Given the description of an element on the screen output the (x, y) to click on. 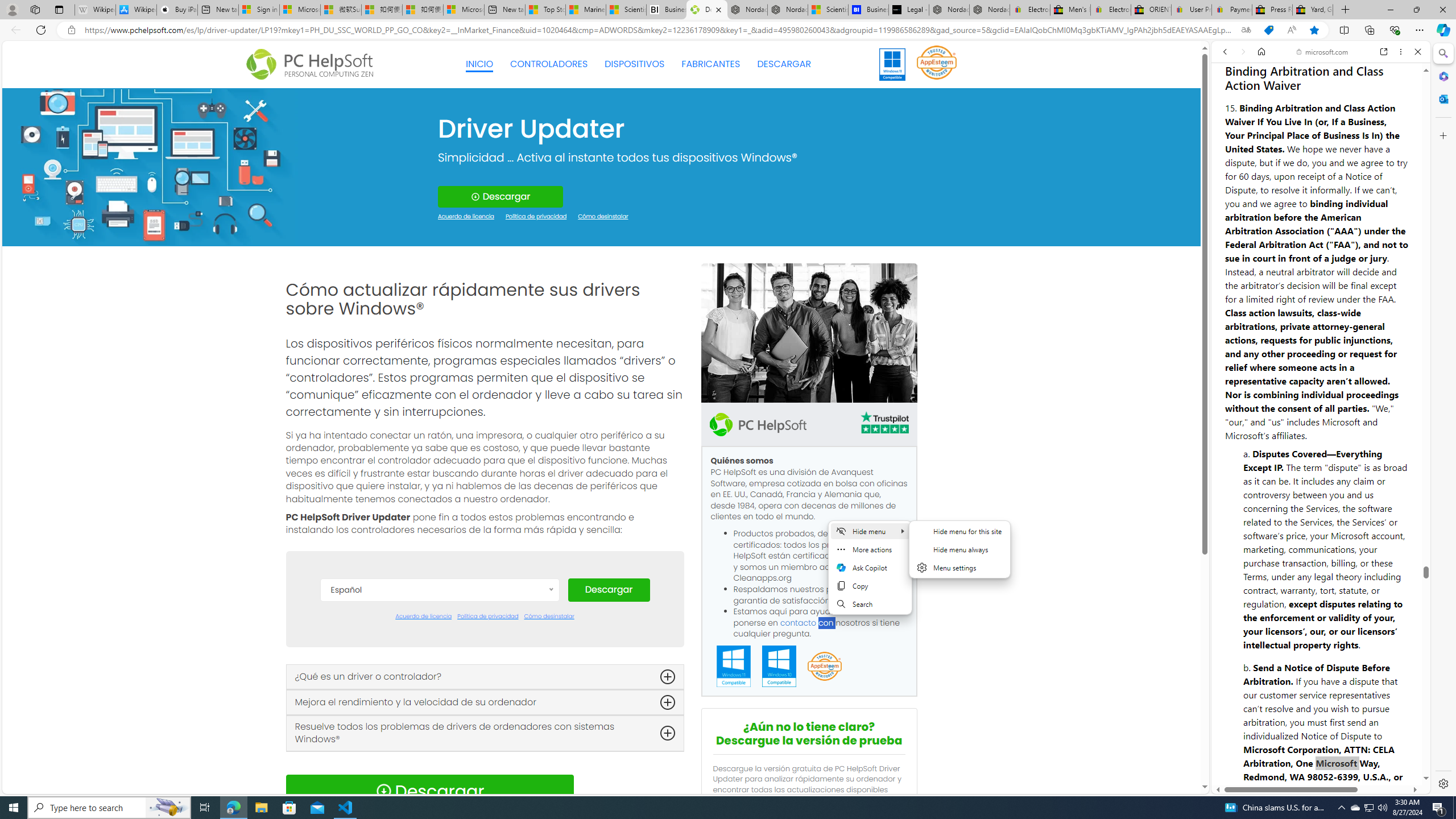
Microsoft 365 (1442, 76)
App Esteem (823, 666)
Hide menu always (960, 549)
FABRICANTES (711, 64)
CONTROLADORES (548, 64)
Deutsch (439, 678)
Advertise (1334, 757)
App Esteem (823, 666)
DISPOSITIVOS (634, 64)
Legal (1292, 757)
Home (1261, 51)
